Given the description of an element on the screen output the (x, y) to click on. 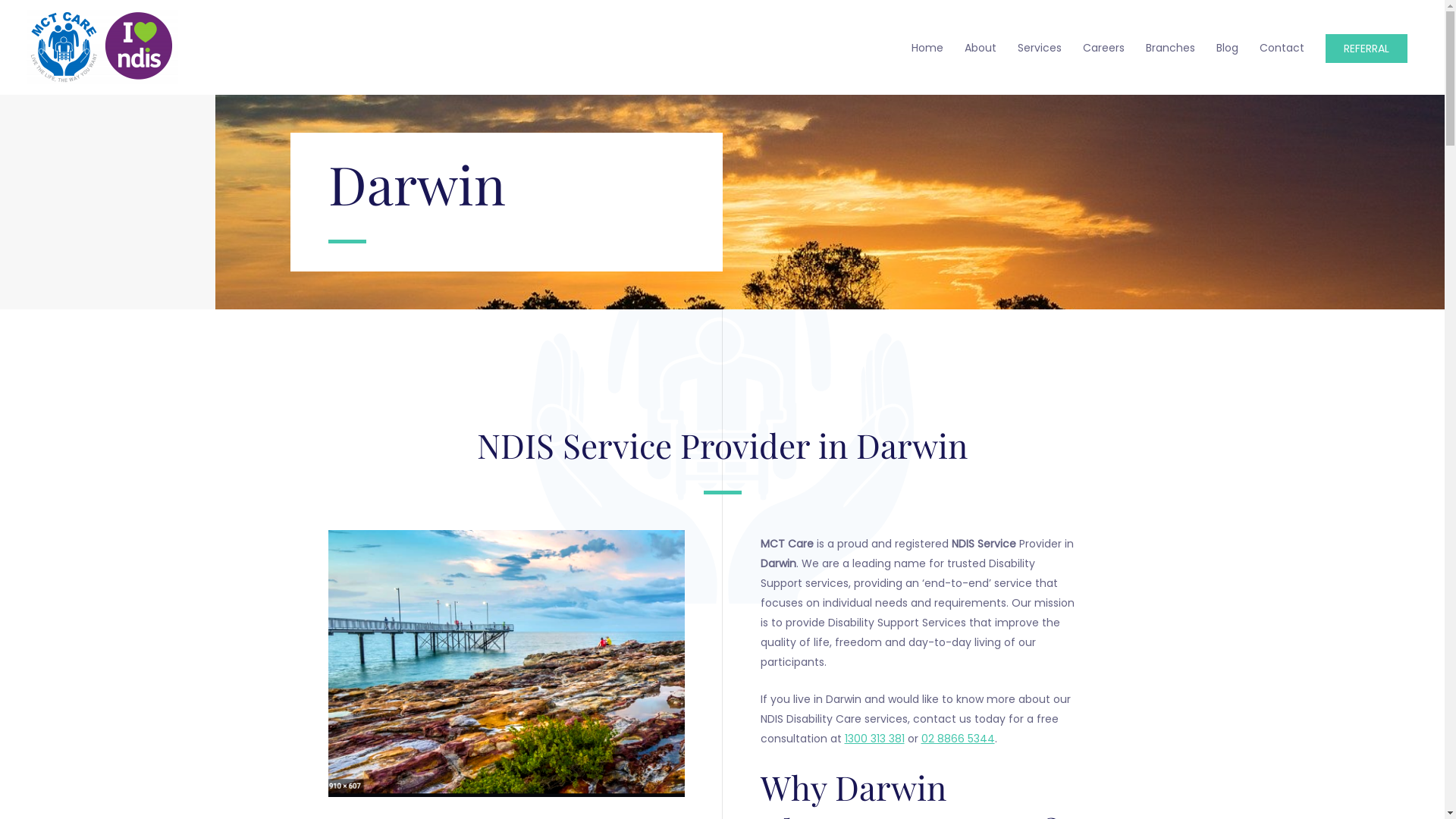
About Element type: text (980, 46)
Blog Element type: text (1226, 46)
Branches Element type: text (1170, 46)
Careers Element type: text (1103, 46)
Contact Element type: text (1281, 46)
REFERRAL Element type: text (1366, 48)
Home Element type: text (926, 46)
1300 313 381 Element type: text (874, 738)
Services Element type: text (1039, 46)
02 8866 5344 Element type: text (957, 738)
